Given the description of an element on the screen output the (x, y) to click on. 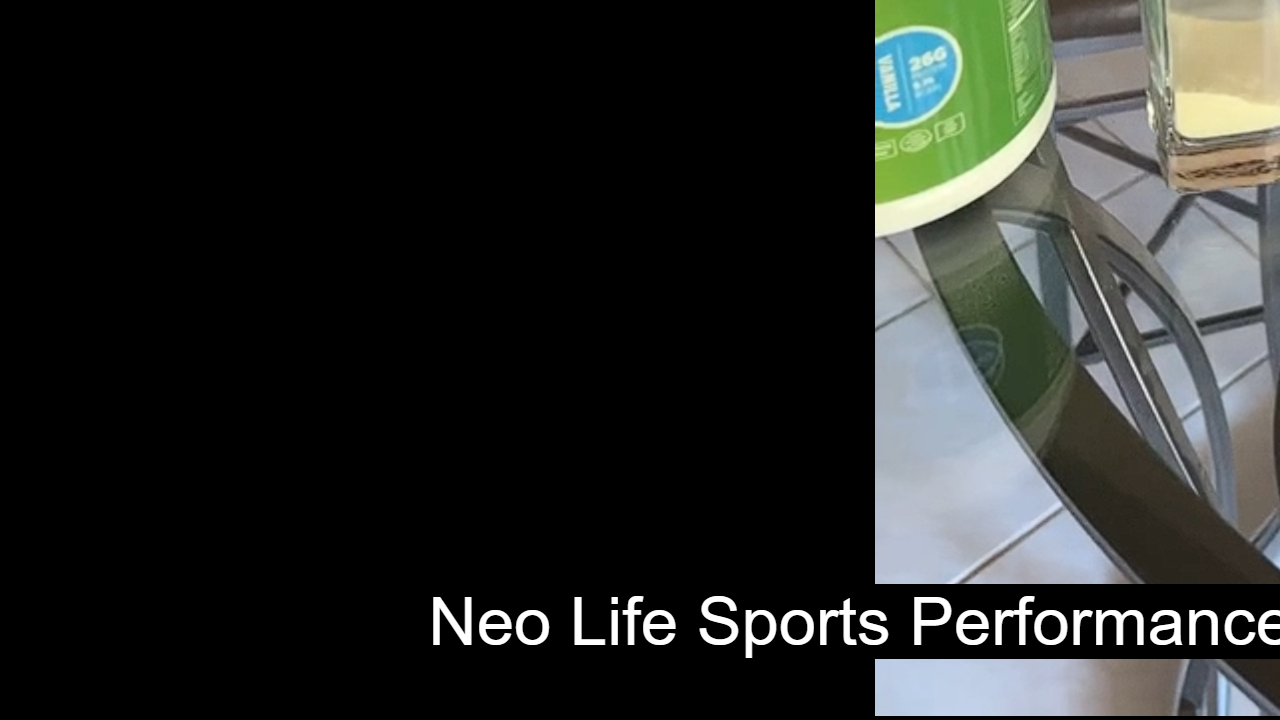
Pause (29, 697)
Seek Back (69, 697)
Seek Forward (109, 697)
